Given the description of an element on the screen output the (x, y) to click on. 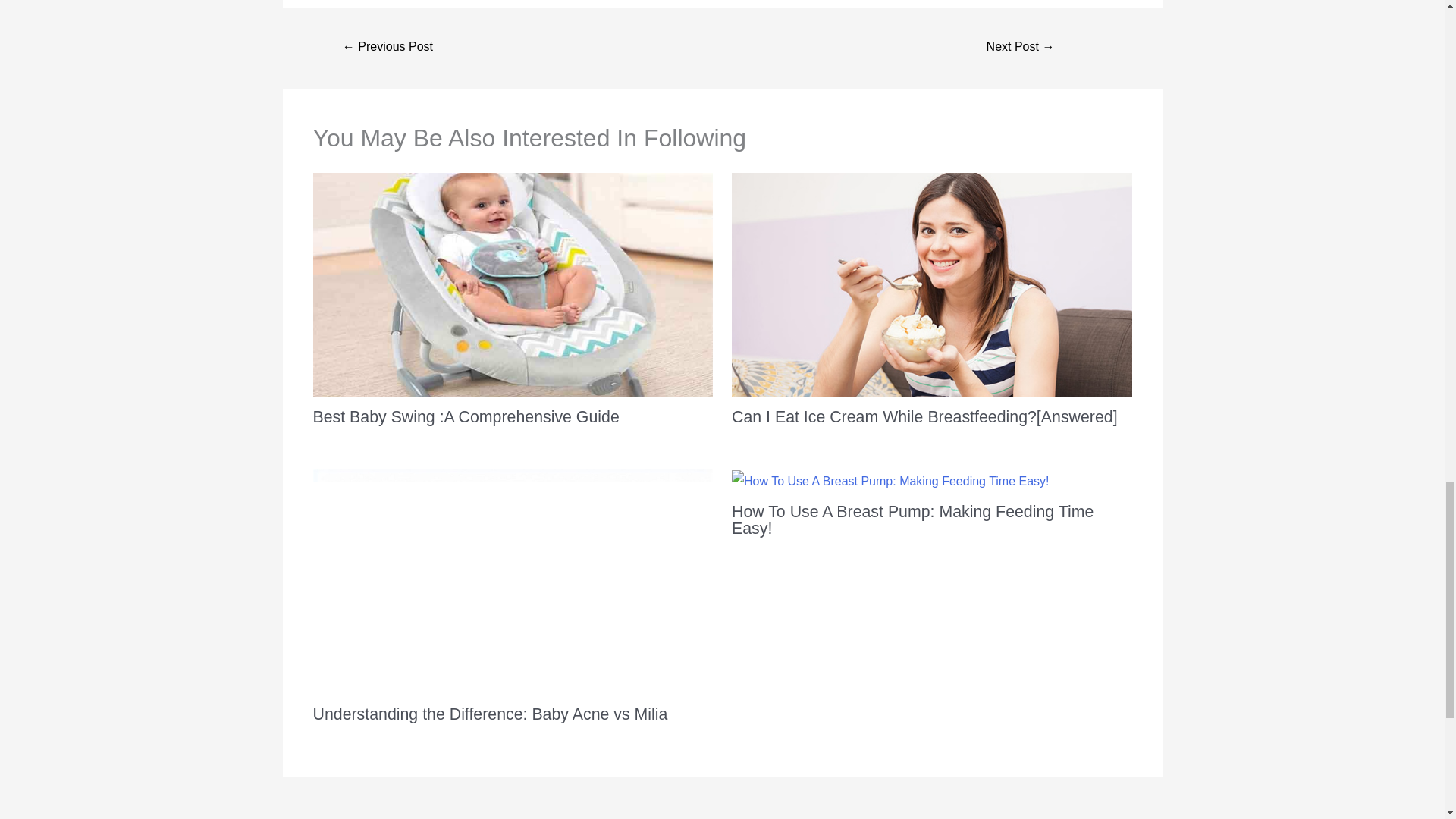
Understanding the Difference: Baby Acne vs Milia (489, 714)
How To Use A Breast Pump: Making Feeding Time Easy! (912, 519)
Does Foam In Formula Cause Gas? (387, 48)
Best Baby Swing :A Comprehensive Guide (465, 416)
